Given the description of an element on the screen output the (x, y) to click on. 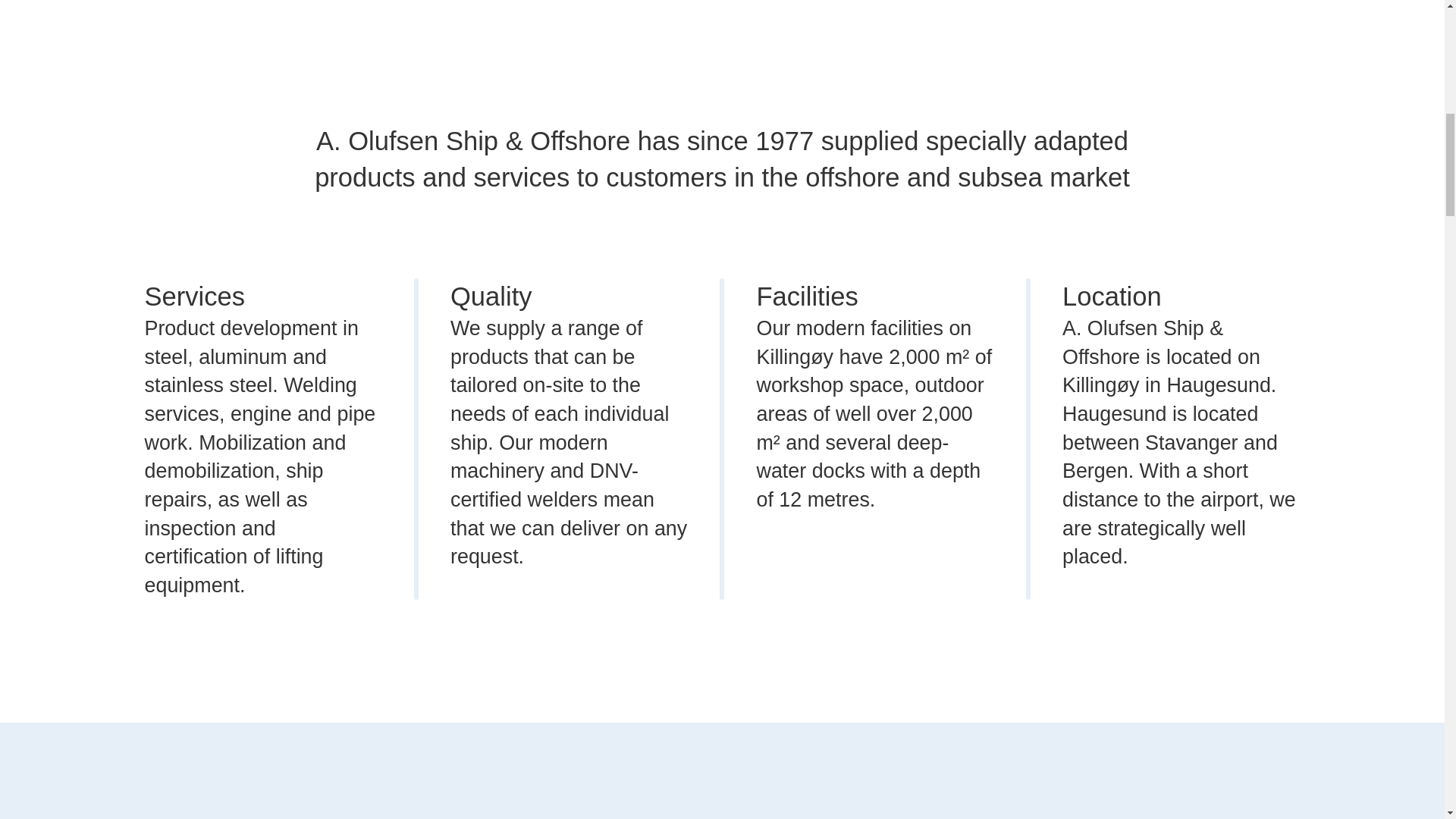
Back to top (1413, 37)
